Given the description of an element on the screen output the (x, y) to click on. 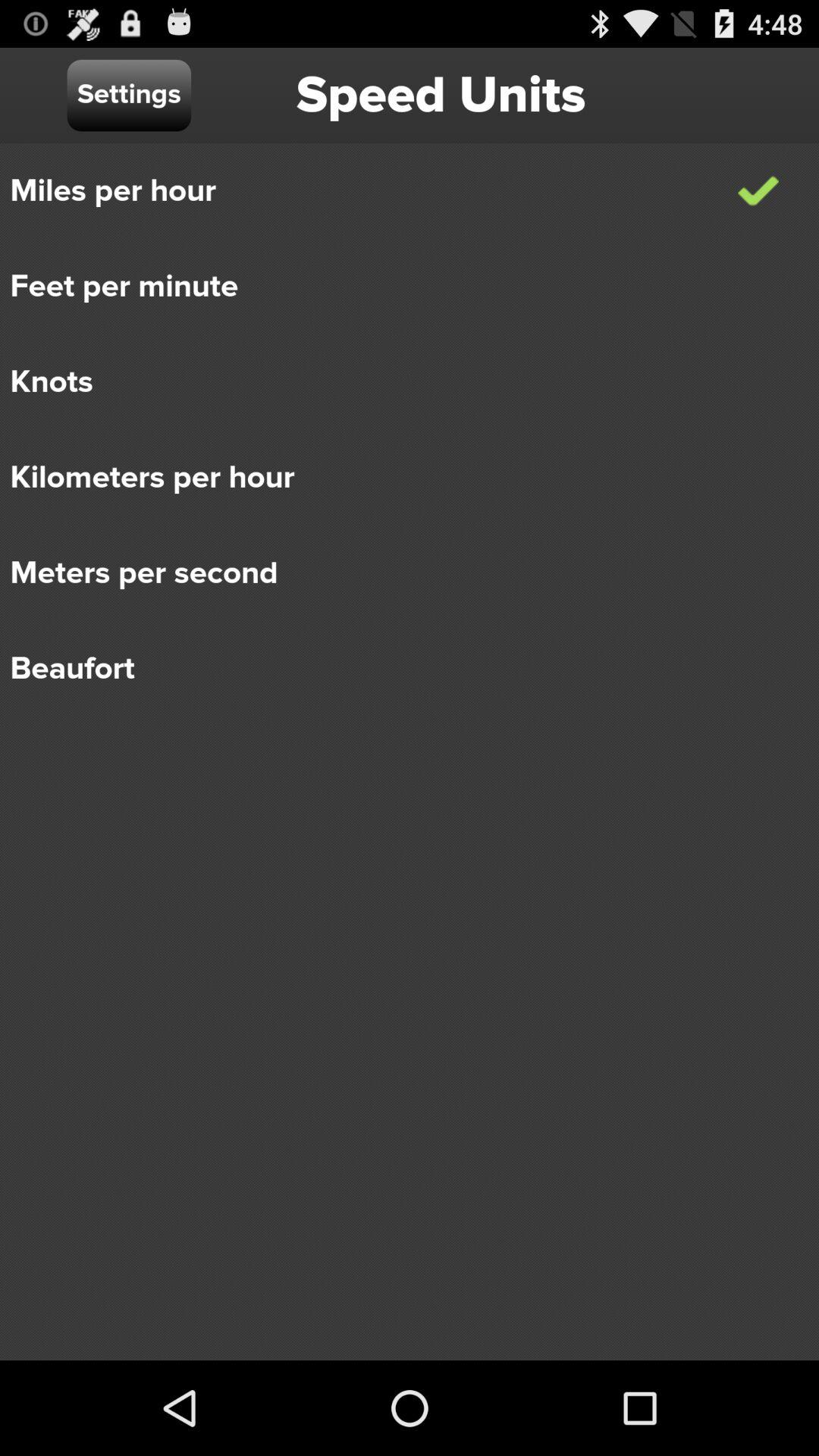
open the icon below meters per second (399, 668)
